Given the description of an element on the screen output the (x, y) to click on. 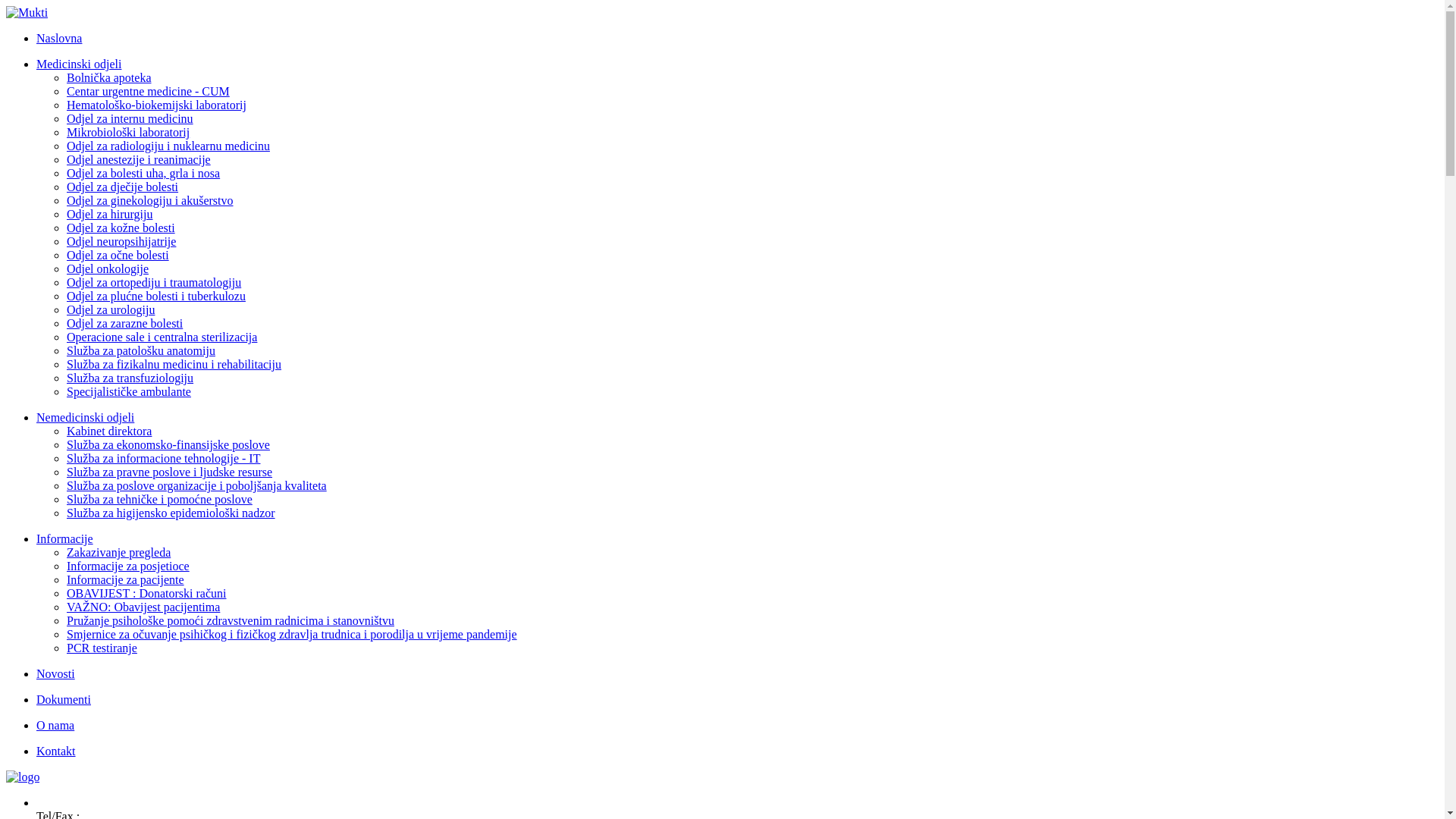
Operacione sale i centralna sterilizacija Element type: text (161, 336)
Kabinet direktora Element type: text (108, 430)
Novosti Element type: text (55, 673)
Odjel neuropsihijatrije Element type: text (120, 241)
Odjel anestezije i reanimacije Element type: text (138, 159)
Odjel za ortopediju i traumatologiju Element type: text (153, 282)
Nemedicinski odjeli Element type: text (85, 417)
Odjel za internu medicinu Element type: text (129, 118)
Dokumenti Element type: text (63, 699)
Informacije Element type: text (64, 538)
Odjel za radiologiju i nuklearnu medicinu Element type: text (167, 145)
Centar urgentne medicine - CUM Element type: text (147, 90)
Zakazivanje pregleda Element type: text (118, 552)
O nama Element type: text (55, 724)
Odjel za hirurgiju Element type: text (109, 213)
Odjel za urologiju Element type: text (110, 309)
PCR testiranje Element type: text (101, 647)
Naslovna Element type: text (58, 37)
Medicinski odjeli Element type: text (78, 63)
Informacije za posjetioce Element type: text (127, 565)
Kontakt Element type: text (55, 750)
Informacije za pacijente Element type: text (125, 579)
Odjel onkologije Element type: text (107, 268)
Odjel za bolesti uha, grla i nosa Element type: text (142, 172)
Odjel za zarazne bolesti Element type: text (124, 322)
